Given the description of an element on the screen output the (x, y) to click on. 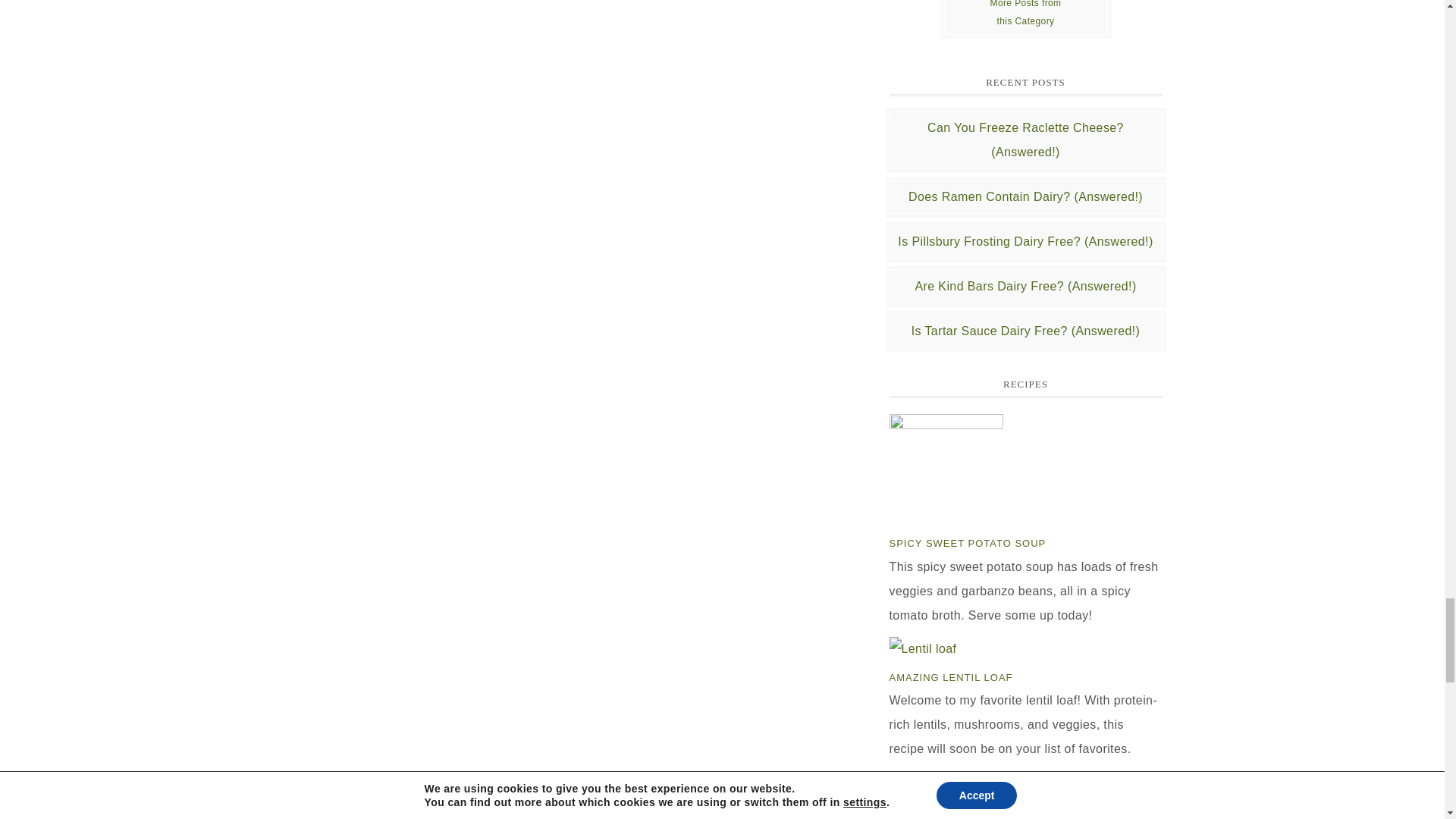
Cooking Tips (1024, 17)
